Given the description of an element on the screen output the (x, y) to click on. 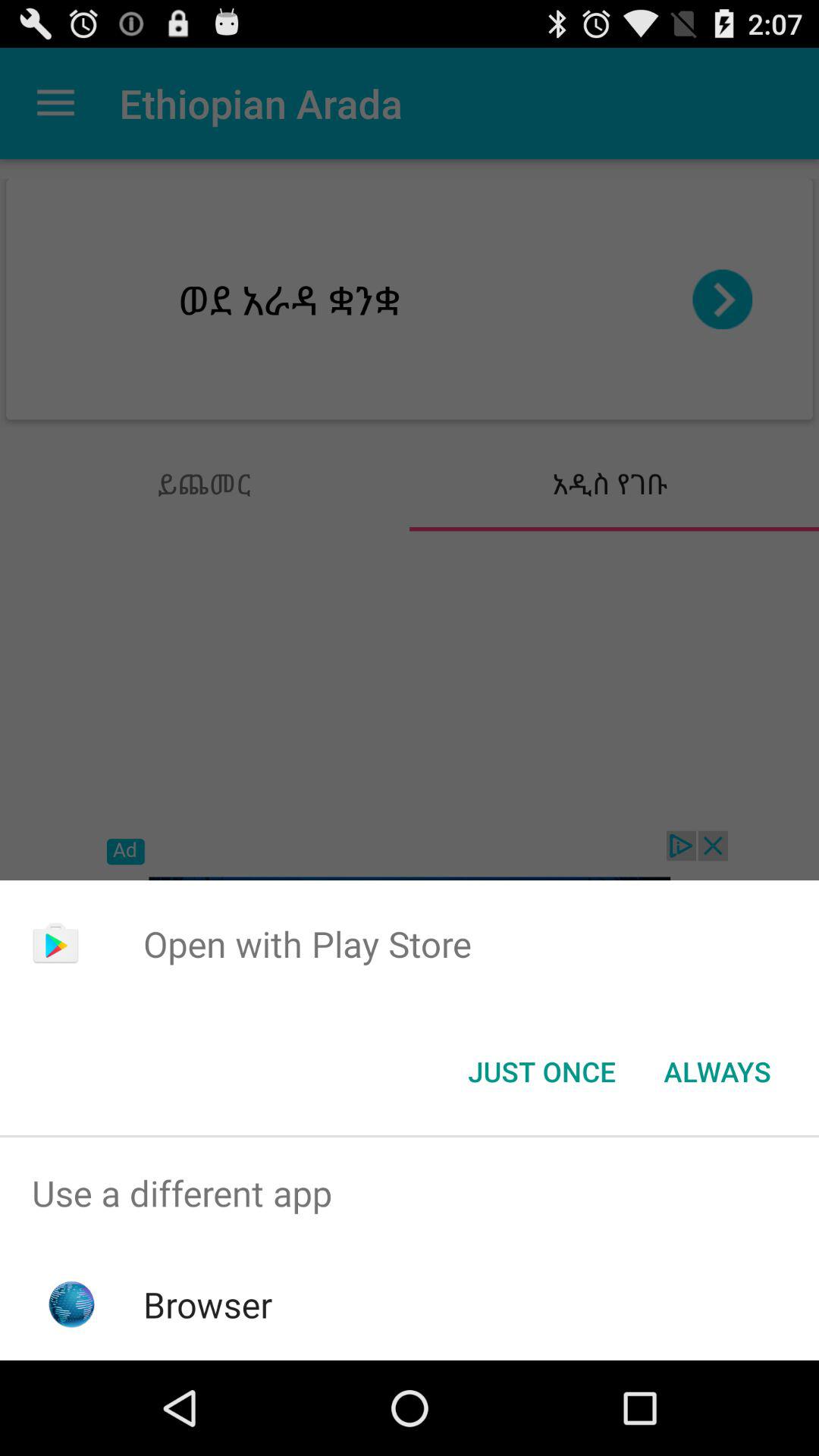
swipe to the use a different (409, 1192)
